Given the description of an element on the screen output the (x, y) to click on. 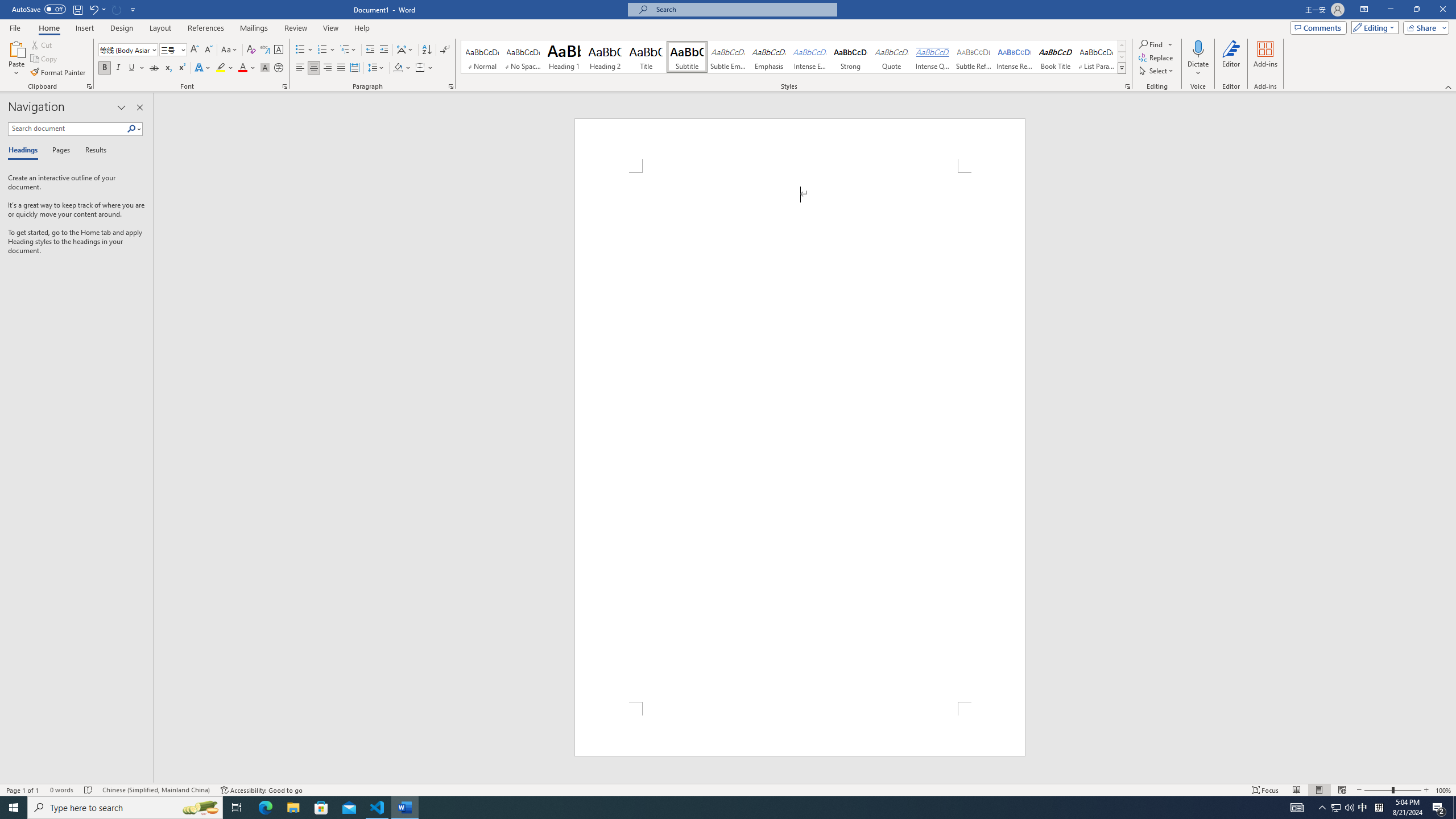
Subtle Reference (973, 56)
Font Color Red (241, 67)
